Given the description of an element on the screen output the (x, y) to click on. 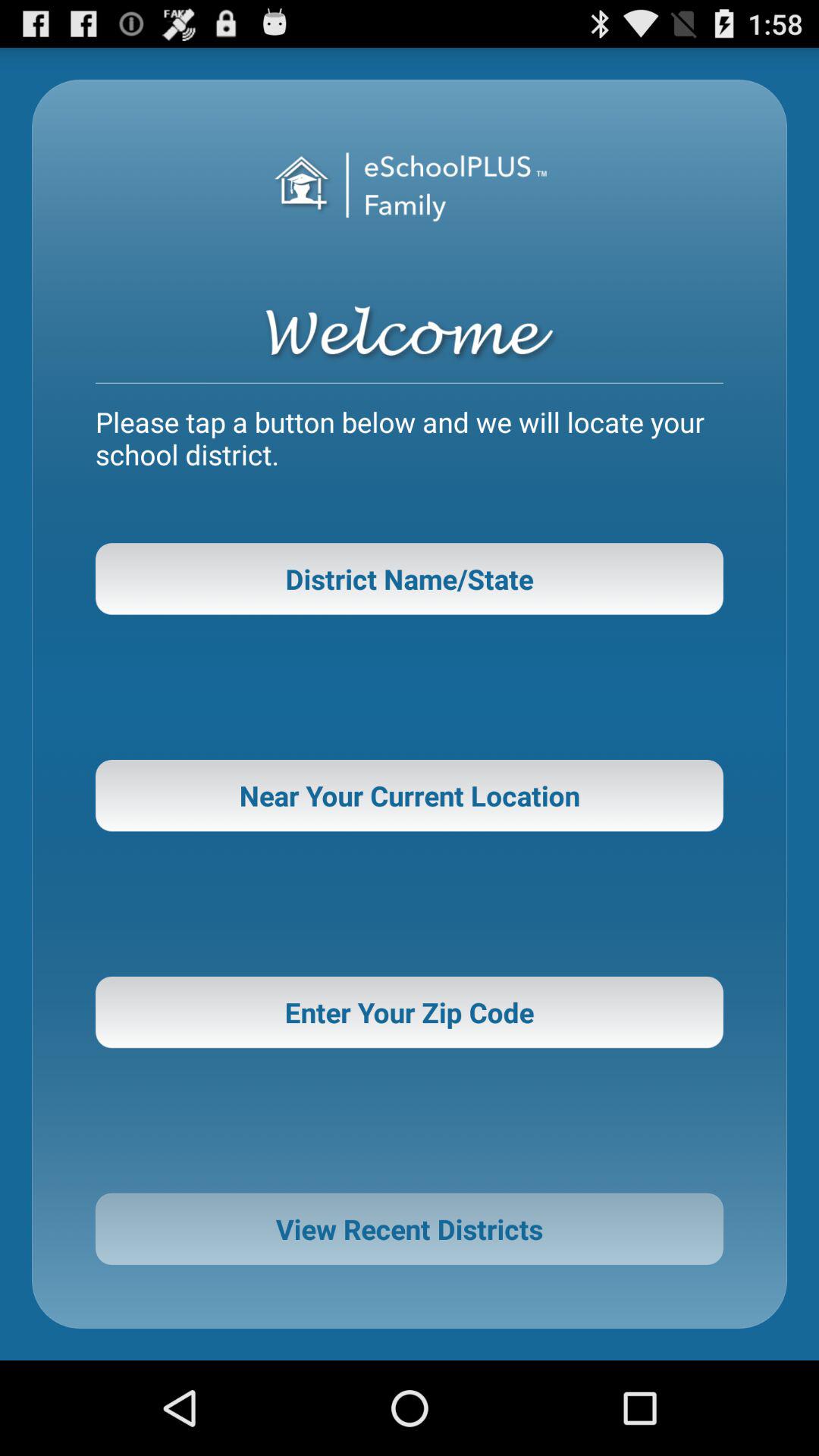
select near your current icon (409, 795)
